Given the description of an element on the screen output the (x, y) to click on. 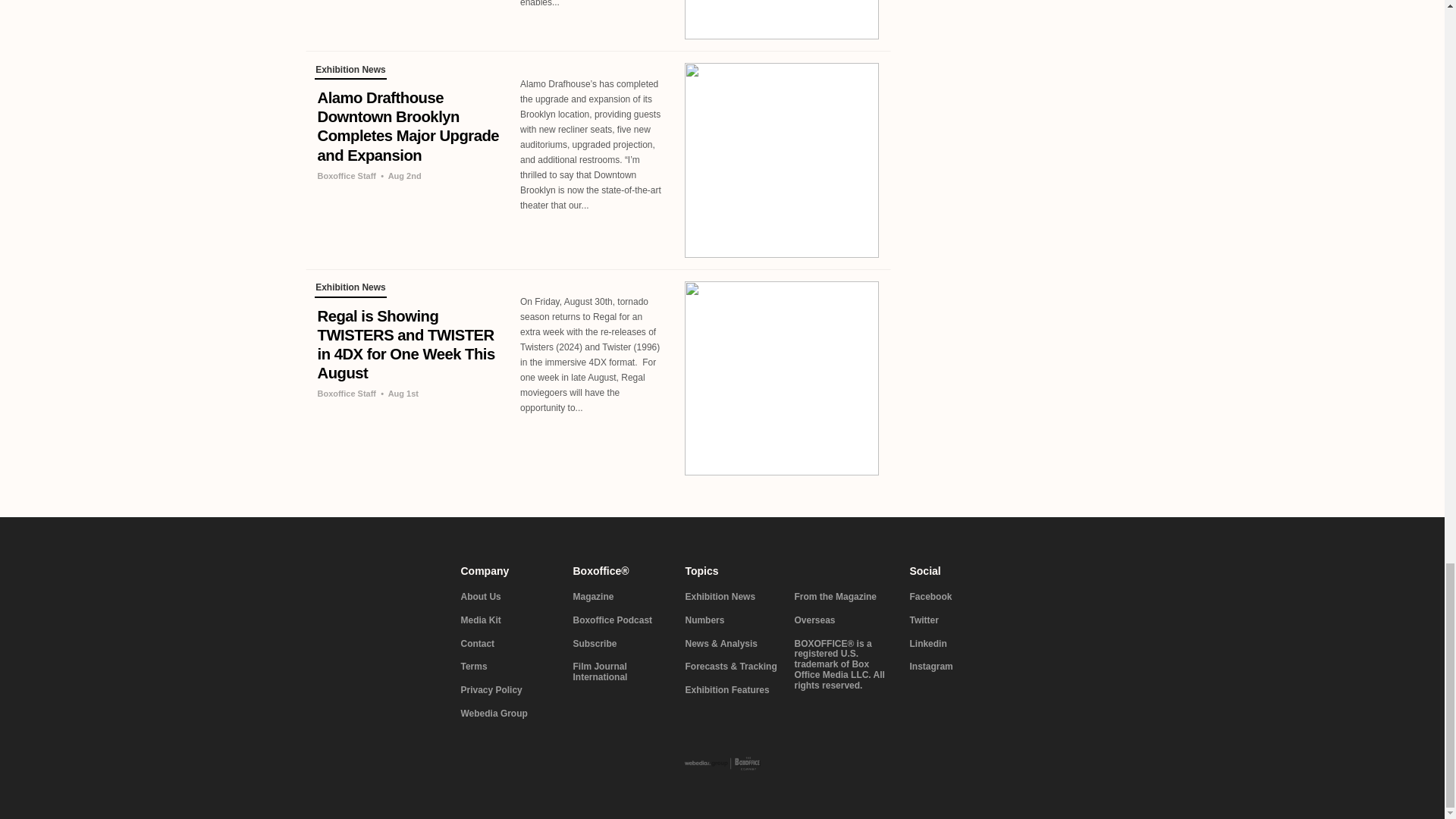
Terms (508, 666)
Magazine (620, 597)
Company (508, 571)
About Us (508, 597)
Webedia Group (508, 714)
Contact (508, 644)
Boxoffice Podcast (620, 620)
Media Kit (508, 620)
Topics (788, 571)
Exhibition News (349, 71)
